Given the description of an element on the screen output the (x, y) to click on. 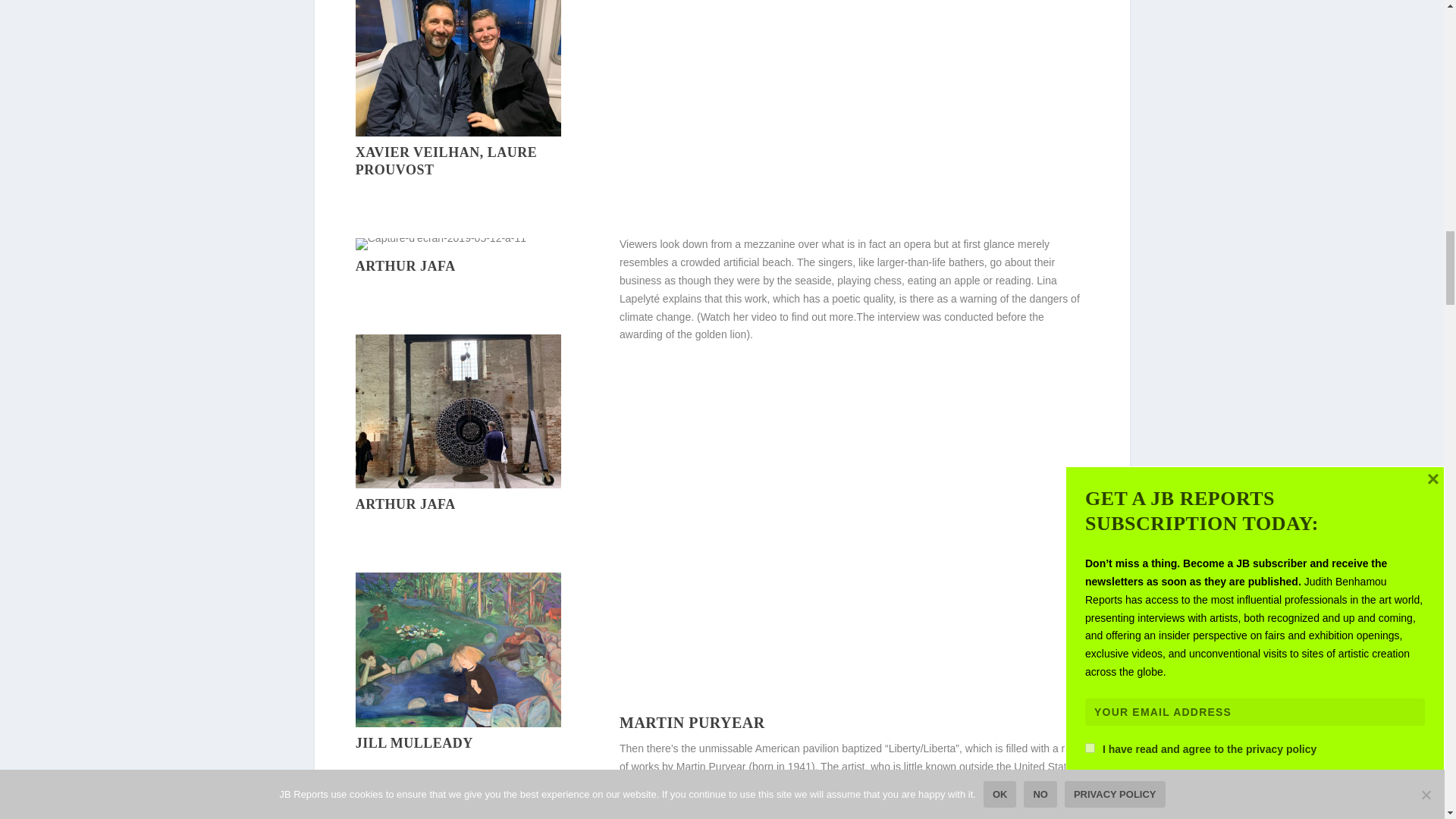
Henry Taylor (391, 811)
Arthur Jafa (457, 484)
Arthur Jafa (440, 237)
Jill Mulleady (457, 723)
Xavier Veilhan, Laure Prouvost (457, 132)
